Given the description of an element on the screen output the (x, y) to click on. 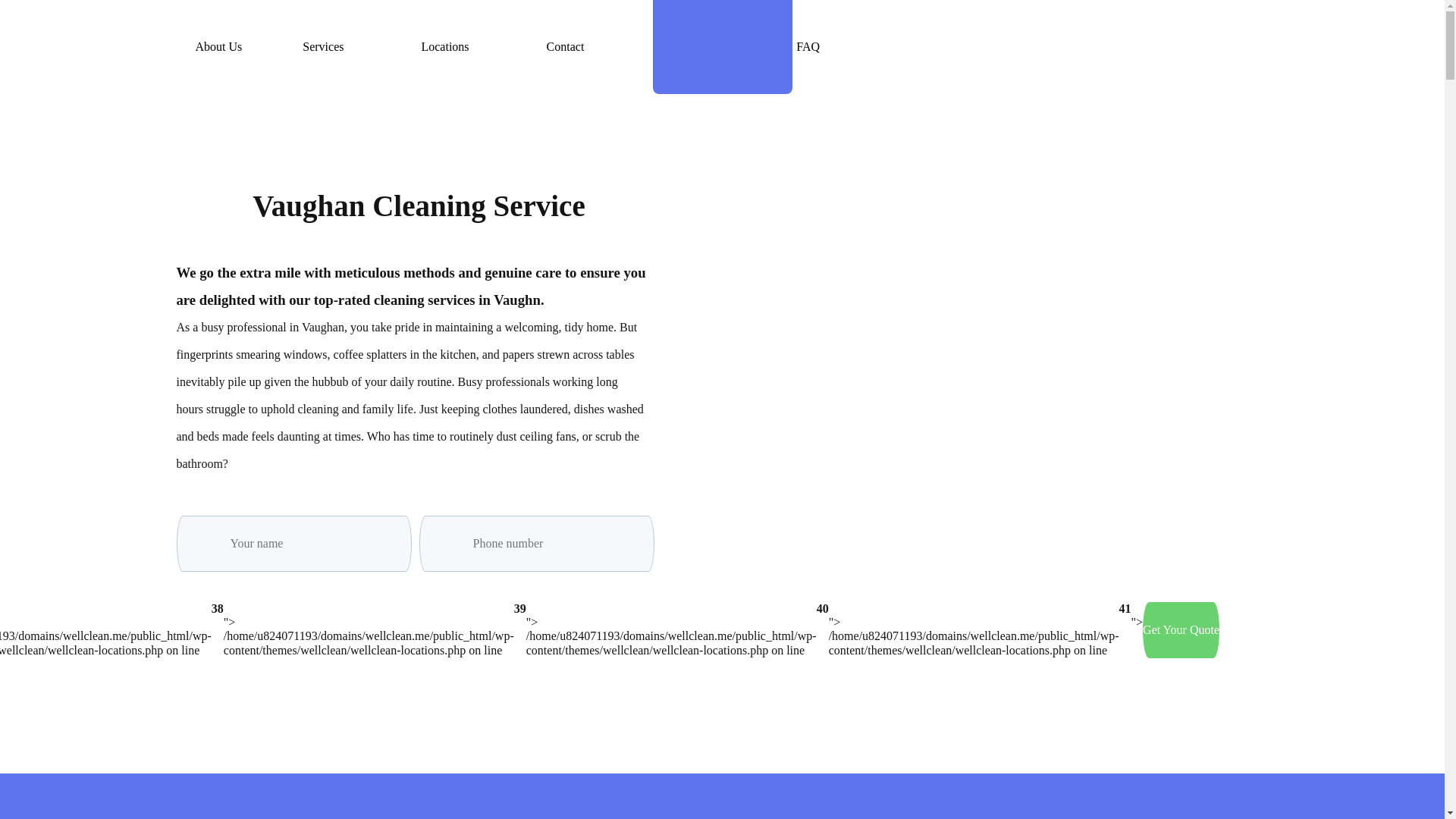
About Us (218, 47)
Services (330, 47)
Get your quote (1181, 629)
